Given the description of an element on the screen output the (x, y) to click on. 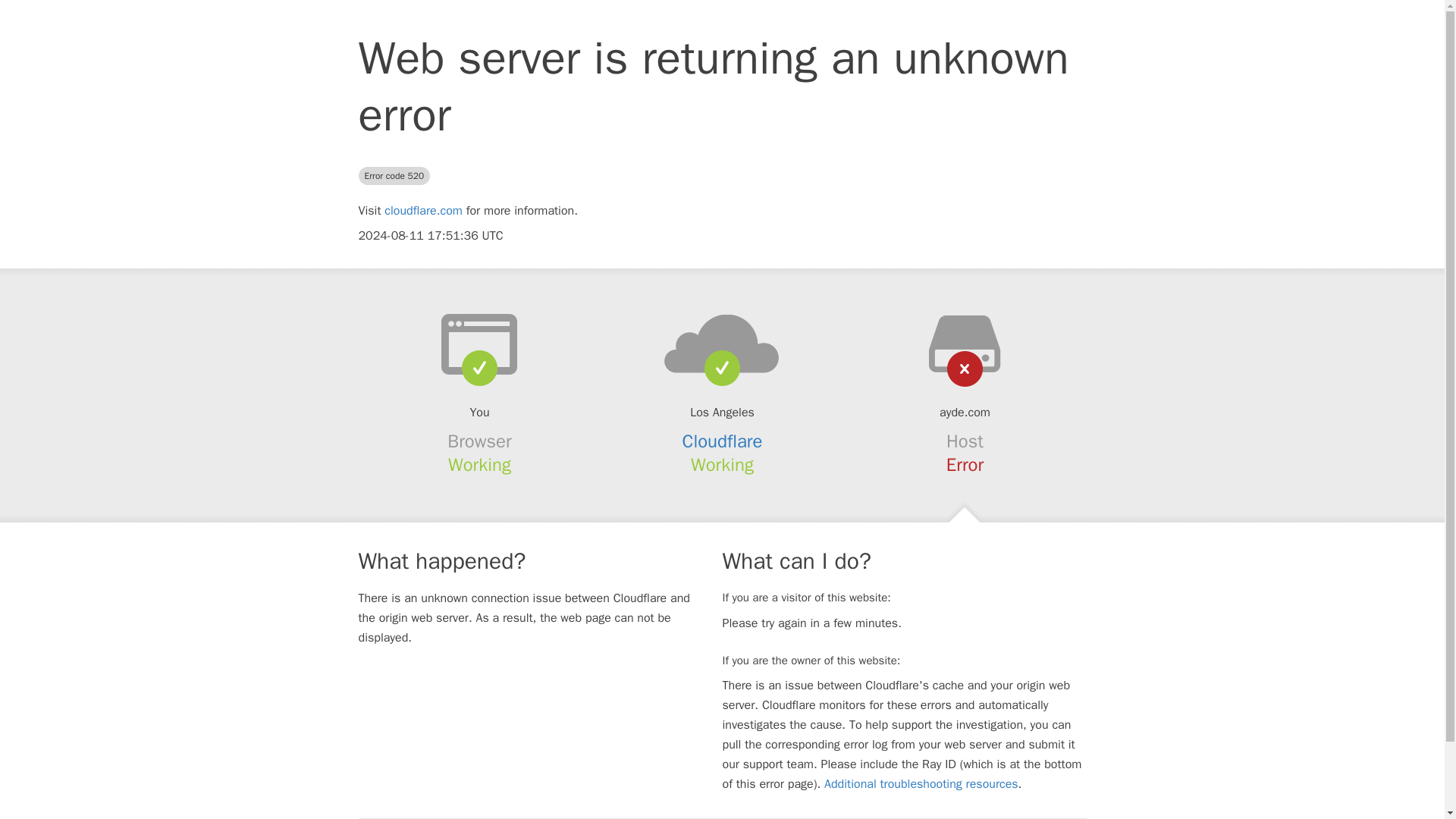
cloudflare.com (423, 210)
Additional troubleshooting resources (920, 783)
Cloudflare (722, 440)
